Given the description of an element on the screen output the (x, y) to click on. 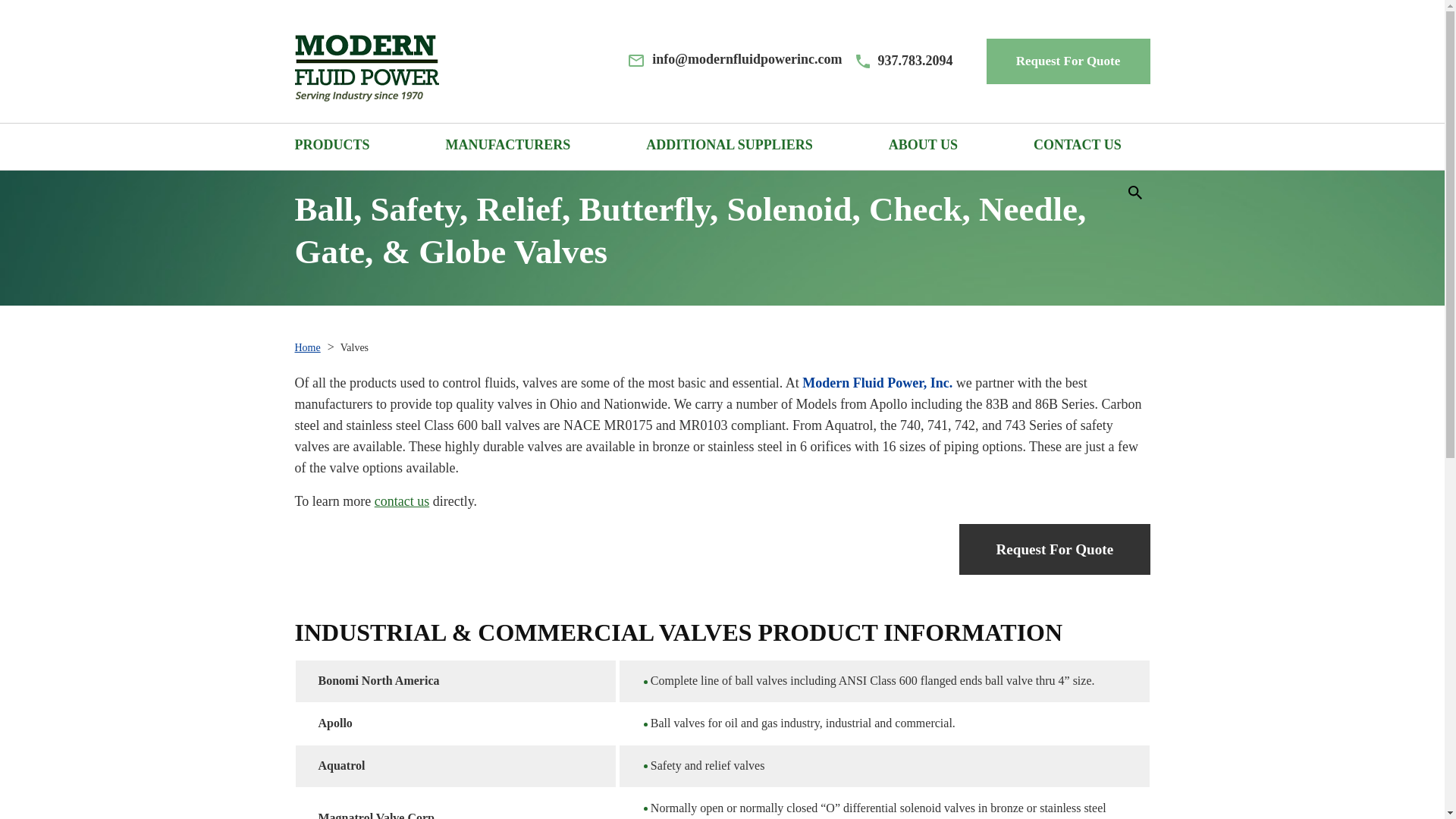
Request For Quote (1067, 61)
Home (307, 346)
937.783.2094 (904, 60)
MANUFACTURERS (507, 147)
CONTACT US (1077, 147)
ABOUT US (923, 147)
Request For Quote (1054, 548)
Modern Fluid Power, Inc logo (366, 68)
ADDITIONAL SUPPLIERS (729, 147)
PRODUCTS (331, 147)
contact us (401, 500)
